Given the description of an element on the screen output the (x, y) to click on. 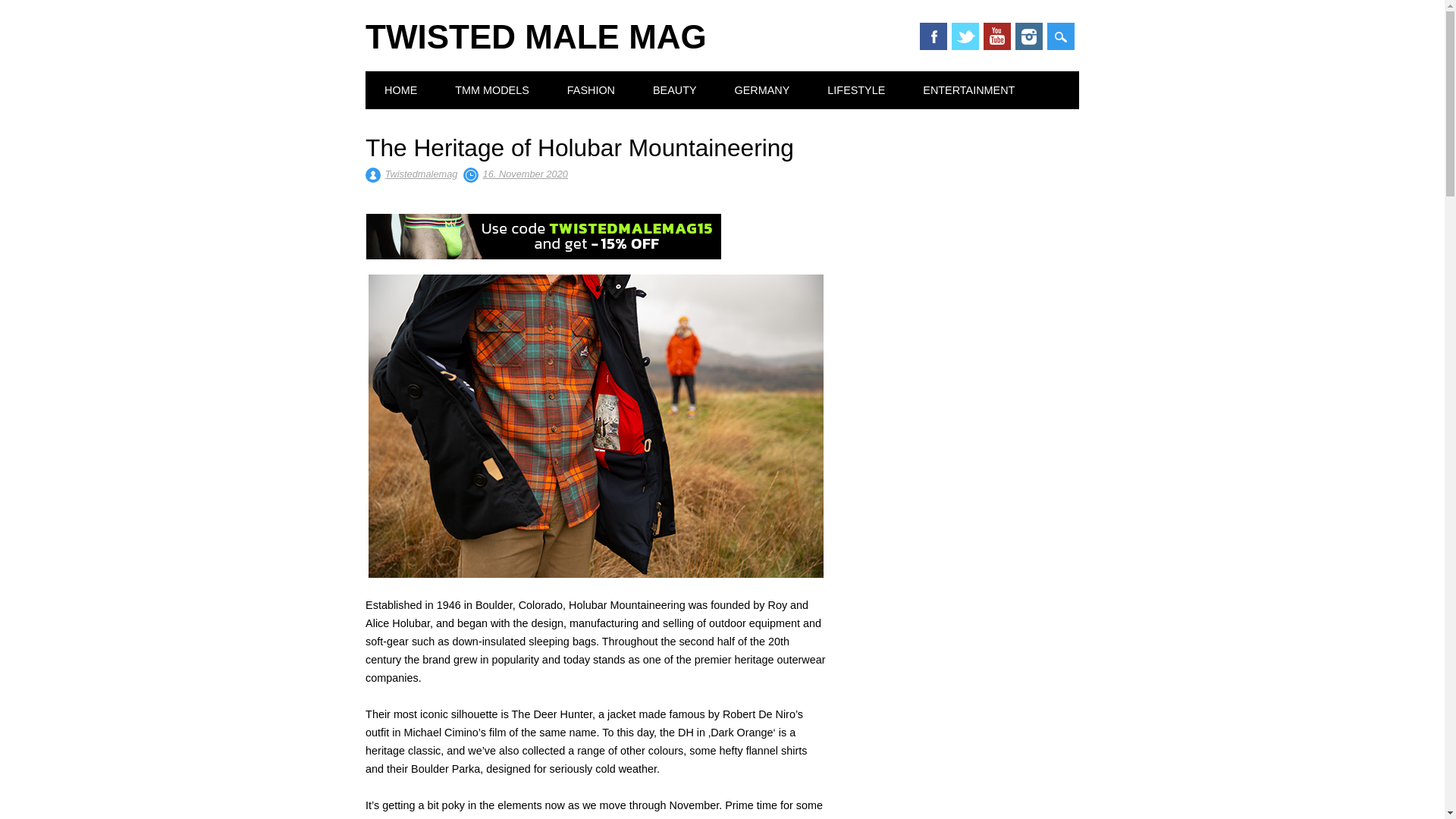
23:26 (525, 173)
View all posts by Twistedmalemag (421, 173)
LIFESTYLE (856, 89)
TMM MODELS (491, 89)
Twistedmalemag (421, 173)
E-modusvivendi - New Collections - By Christos Bibitsos (543, 236)
Skip to content (401, 80)
Instagram (1028, 35)
GERMANY (762, 89)
HOME (400, 89)
Twisted Male Mag (535, 36)
16. November 2020 (525, 173)
Skip to content (401, 80)
TWISTED MALE MAG (535, 36)
Twitter (965, 35)
